Given the description of an element on the screen output the (x, y) to click on. 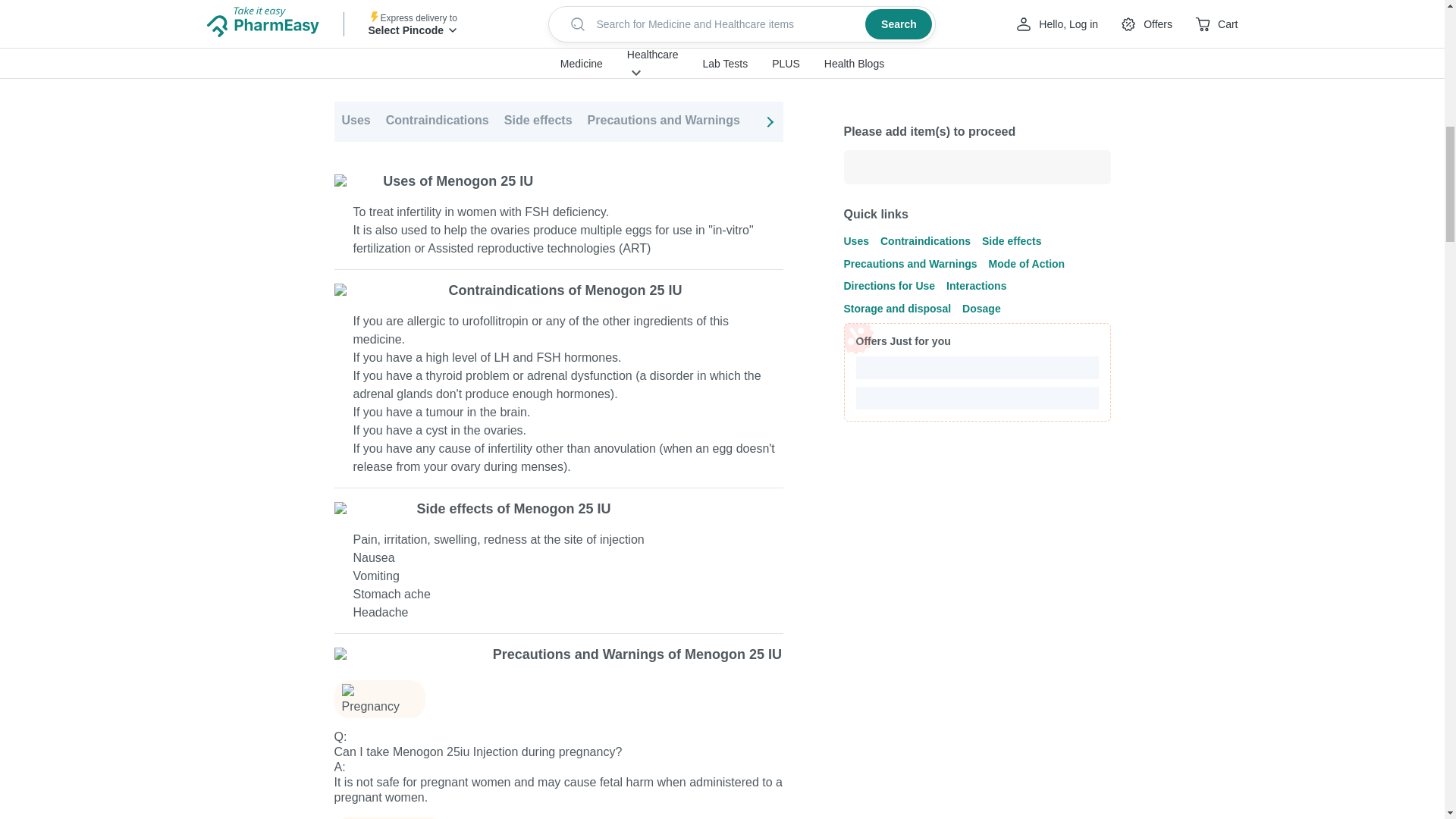
Dosage (1220, 121)
View (753, 48)
Interactions (1011, 121)
Mode of Action (799, 121)
Directions for Use (909, 121)
Storage and disposal (1121, 121)
Contraindications (437, 121)
Uses (355, 121)
Precautions and Warnings (663, 121)
Side effects (537, 121)
